Given the description of an element on the screen output the (x, y) to click on. 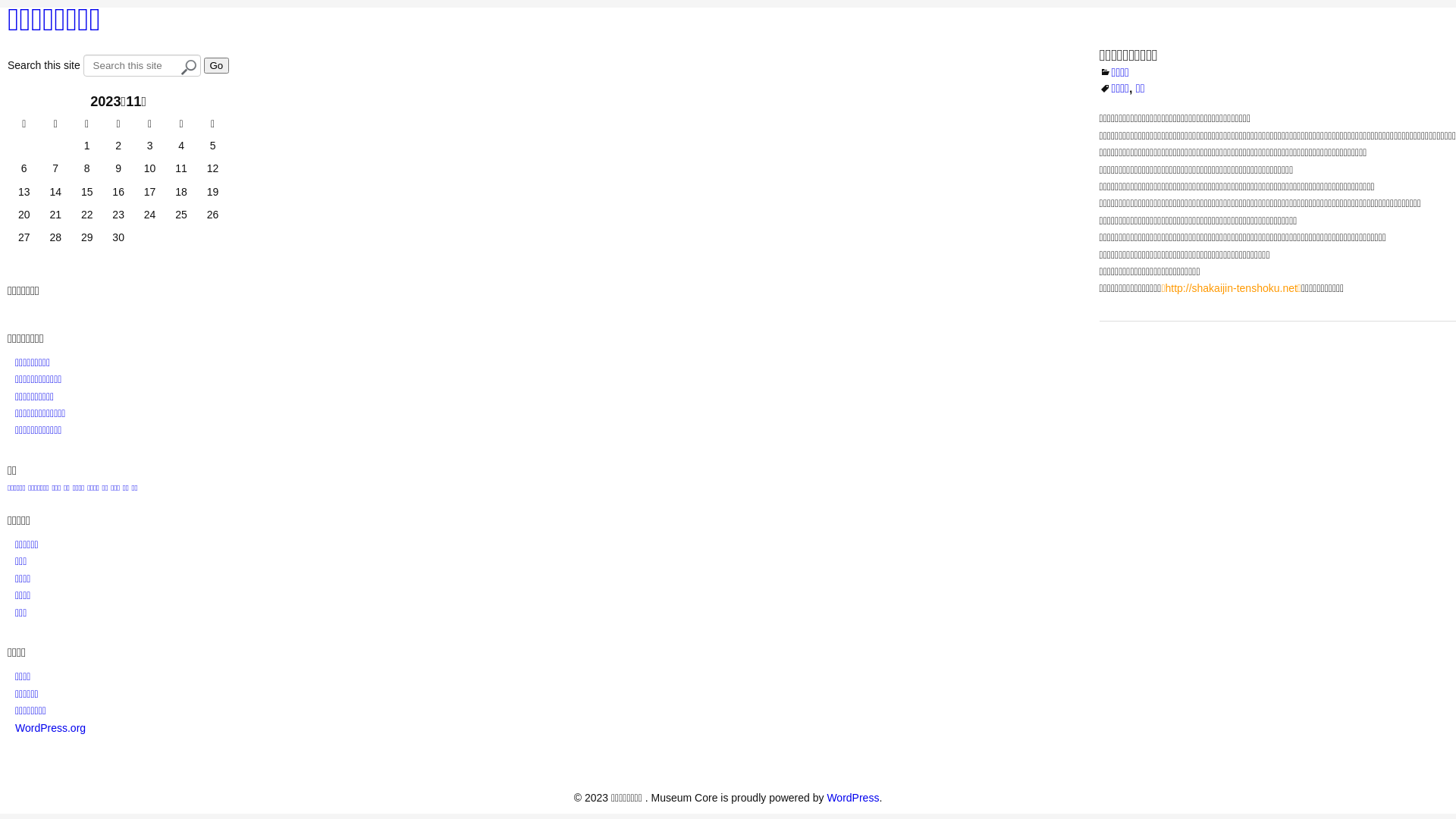
WordPress.org Element type: text (50, 727)
Go Element type: text (216, 65)
WordPress Element type: text (852, 797)
http://shakaijin-tenshoku.net Element type: text (1231, 288)
